Given the description of an element on the screen output the (x, y) to click on. 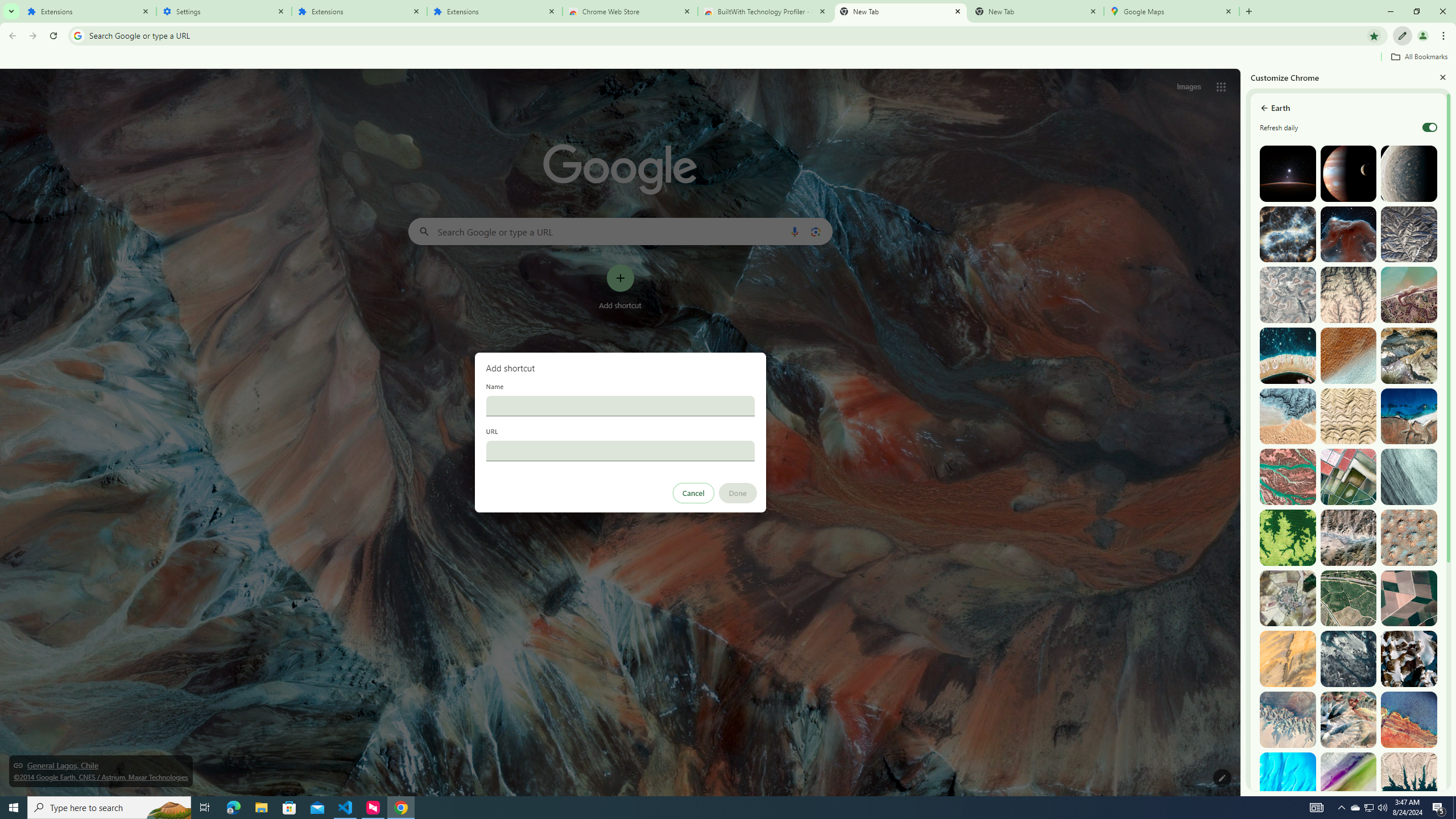
Restore (1416, 11)
New Tab (1248, 11)
